Given the description of an element on the screen output the (x, y) to click on. 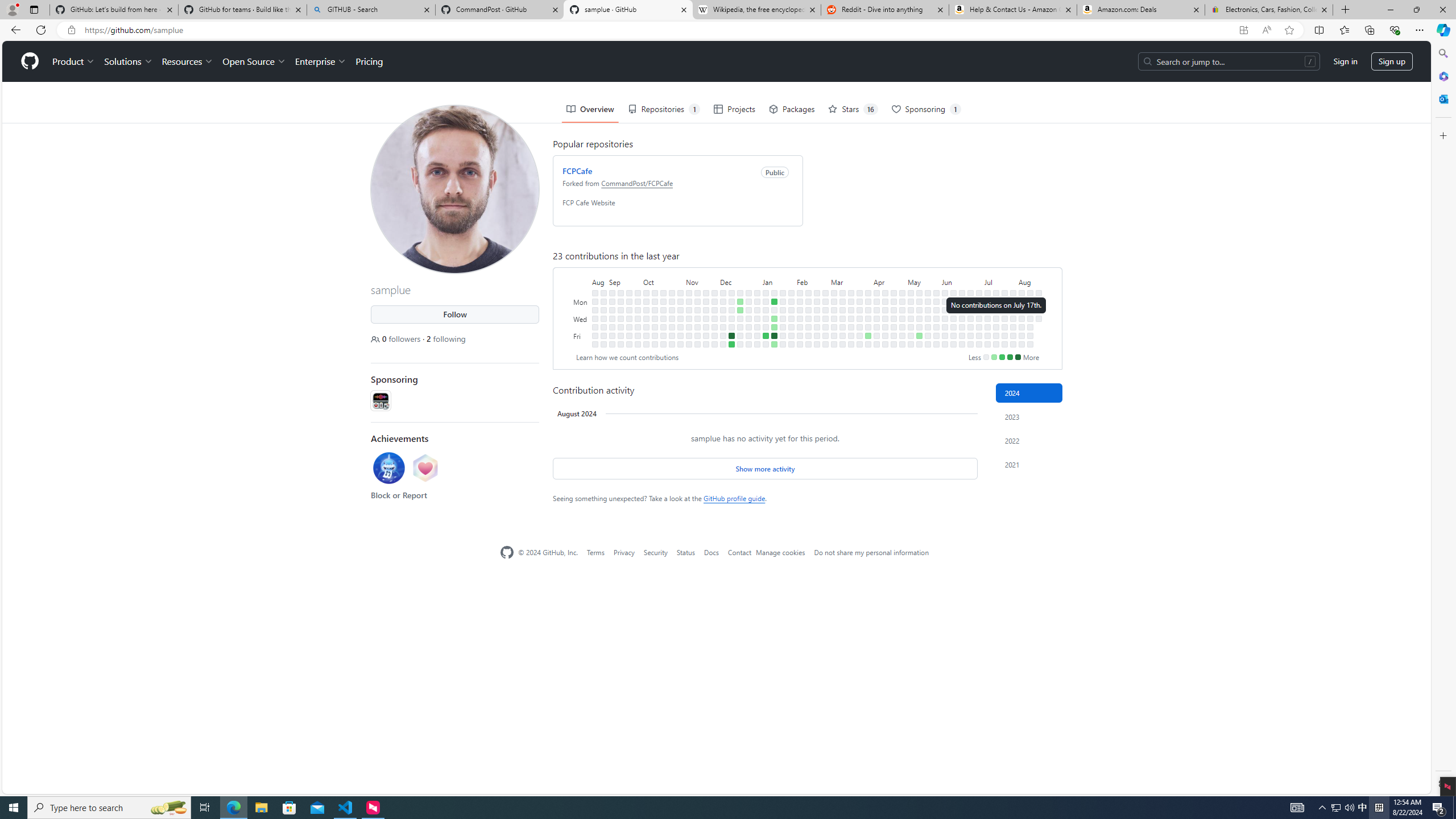
No contributions on March 5th. (834, 309)
Amazon.com: Deals (1140, 9)
No contributions on November 13th. (697, 301)
No contributions on August 11th. (1029, 292)
No contributions on August 31st. (603, 326)
No contributions on June 13th. (953, 326)
No contributions on August 5th. (1022, 301)
No contributions on August 27th. (603, 292)
No contributions on December 25th. (748, 301)
No contributions on April 14th. (885, 292)
Block or Report (398, 495)
February (812, 280)
No contributions on October 28th. (671, 343)
No contributions on March 22nd. (850, 335)
